Given the description of an element on the screen output the (x, y) to click on. 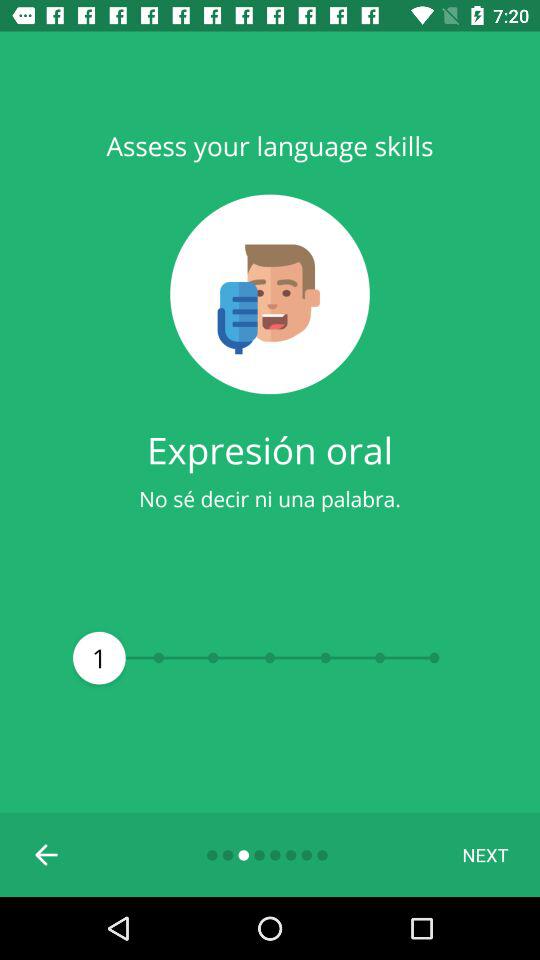
press icon next to the next icon (47, 854)
